Given the description of an element on the screen output the (x, y) to click on. 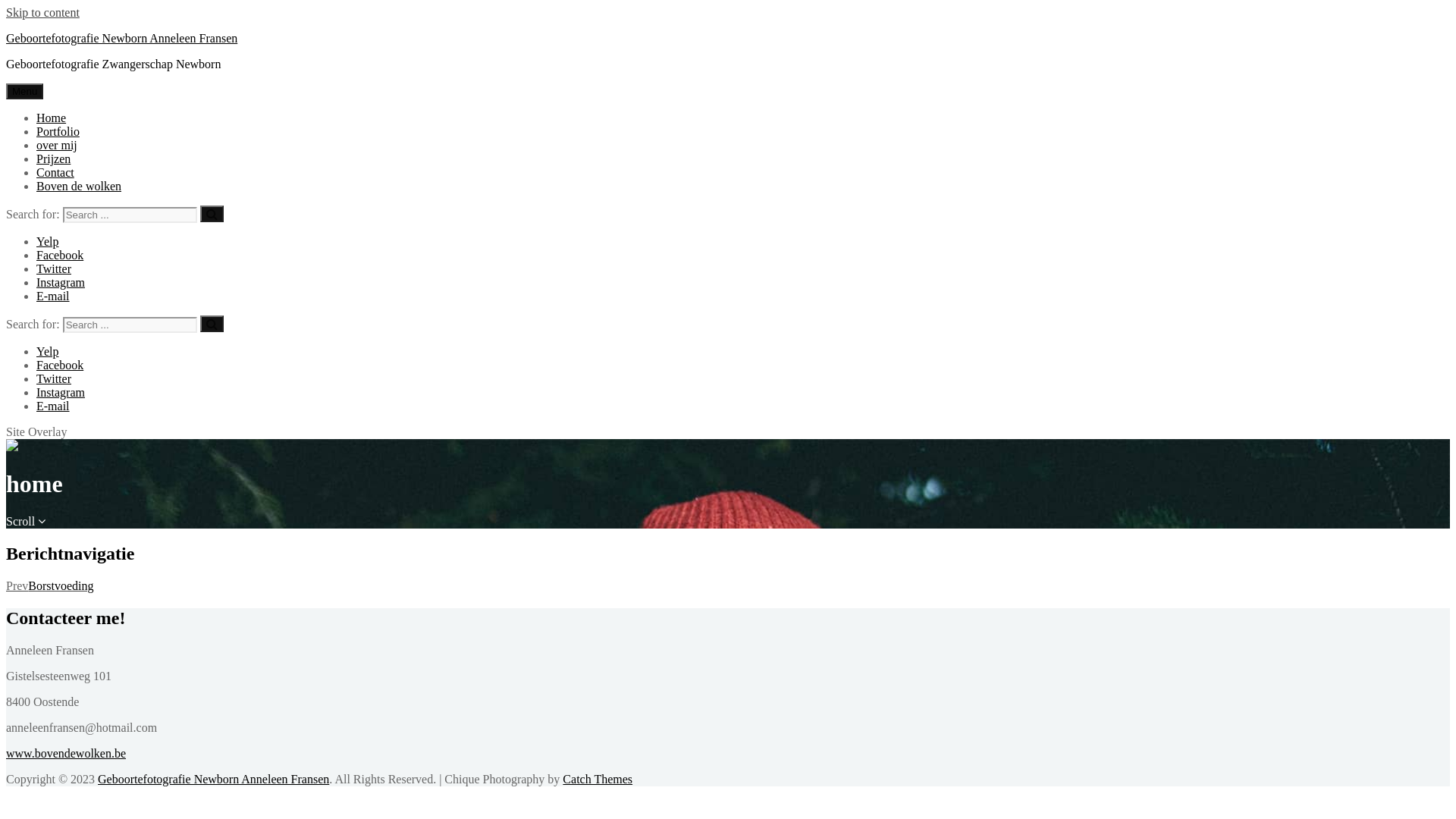
Catch Themes Element type: text (597, 777)
Facebook Element type: text (59, 254)
Geboortefotografie Newborn Anneleen Fransen Element type: text (213, 777)
Yelp Element type: text (47, 241)
Contact Element type: text (55, 172)
Twitter Element type: text (53, 268)
Search for: Element type: hover (129, 214)
PrevBorstvoeding Element type: text (50, 585)
Boven de wolken Element type: text (78, 185)
Menu Element type: text (24, 91)
Prijzen Element type: text (53, 158)
Home Element type: text (50, 117)
over mij Element type: text (56, 144)
Skip to content Element type: text (42, 12)
Facebook Element type: text (59, 364)
Yelp Element type: text (47, 351)
Geboortefotografie Newborn Anneleen Fransen Element type: text (121, 37)
E-mail Element type: text (52, 405)
Portfolio Element type: text (57, 131)
Instagram Element type: text (60, 282)
www.bovendewolken.be Element type: text (65, 752)
E-mail Element type: text (52, 295)
Search for: Element type: hover (129, 324)
Twitter Element type: text (53, 378)
Instagram Element type: text (60, 391)
